Given the description of an element on the screen output the (x, y) to click on. 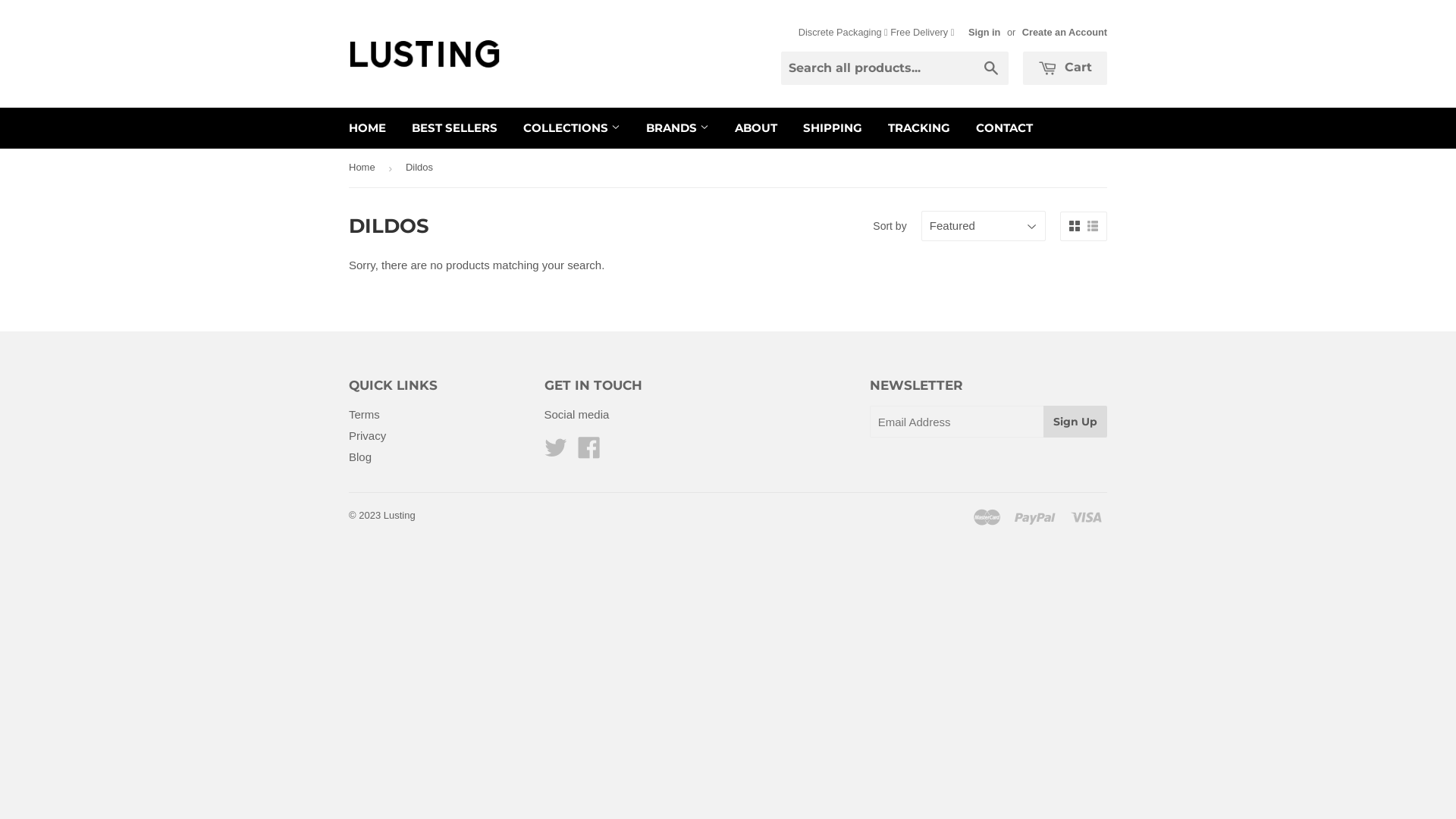
CONTACT Element type: text (1004, 127)
ABOUT Element type: text (755, 127)
Sign in Element type: text (984, 31)
Cart Element type: text (1064, 67)
Blog Element type: text (359, 456)
Twitter Element type: text (555, 451)
Grid view Element type: hover (1074, 225)
BEST SELLERS Element type: text (454, 127)
Home Element type: text (364, 167)
Sign Up Element type: text (1075, 421)
BRANDS Element type: text (677, 127)
Terms Element type: text (363, 413)
HOME Element type: text (367, 127)
Facebook Element type: text (588, 451)
SHIPPING Element type: text (832, 127)
TRACKING Element type: text (918, 127)
COLLECTIONS Element type: text (571, 127)
Search Element type: text (991, 68)
Privacy Element type: text (366, 435)
List view Element type: hover (1092, 225)
Create an Account Element type: text (1064, 31)
